Given the description of an element on the screen output the (x, y) to click on. 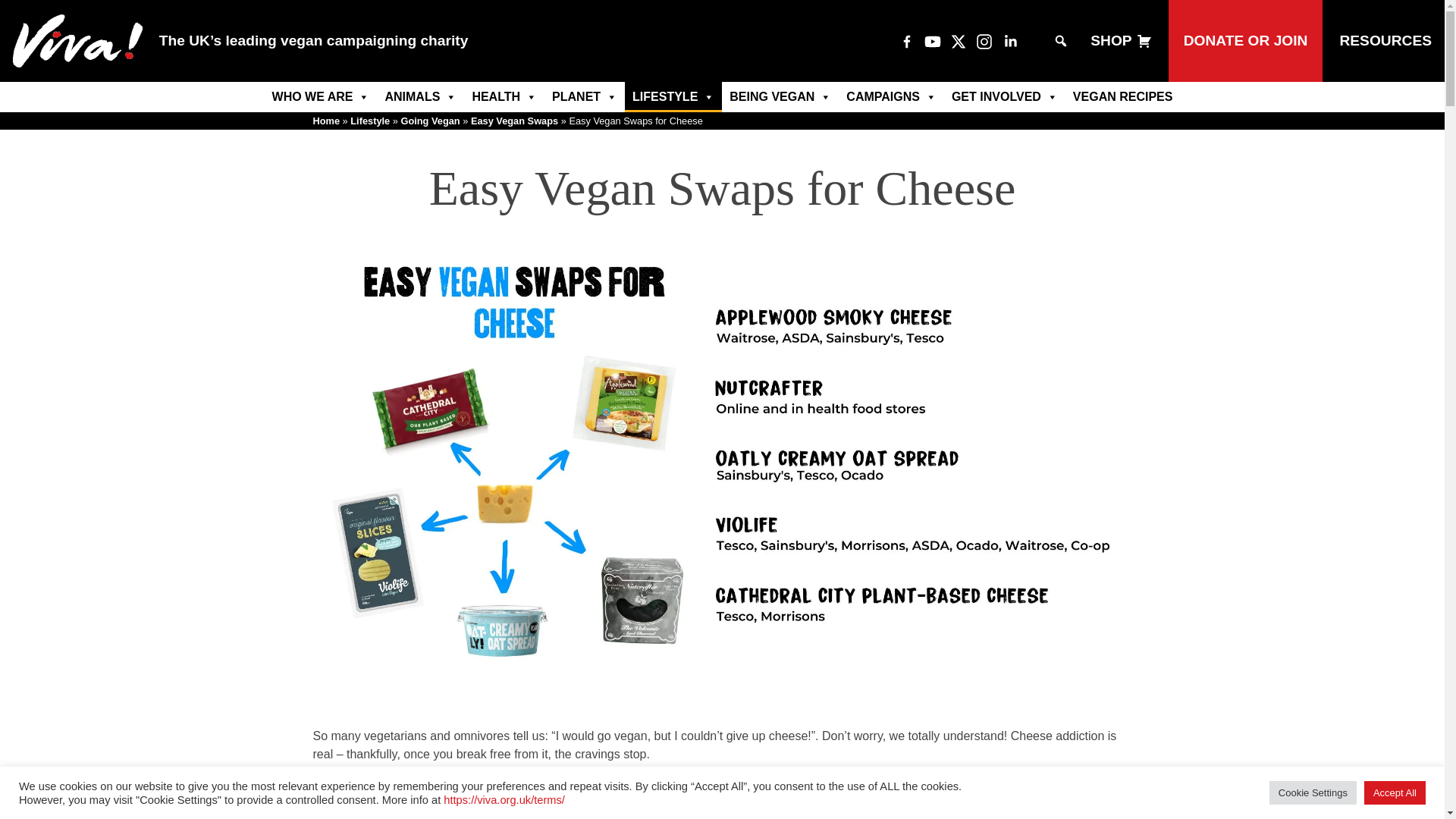
Resources (1385, 40)
DONATE OR JOIN (1246, 40)
ANIMALS (420, 96)
Search (21, 7)
Donate to Viva! (1246, 40)
Linkedin (1010, 41)
Instagram (983, 41)
Facebook (906, 41)
WHO WE ARE (320, 96)
RESOURCES (1385, 40)
